Given the description of an element on the screen output the (x, y) to click on. 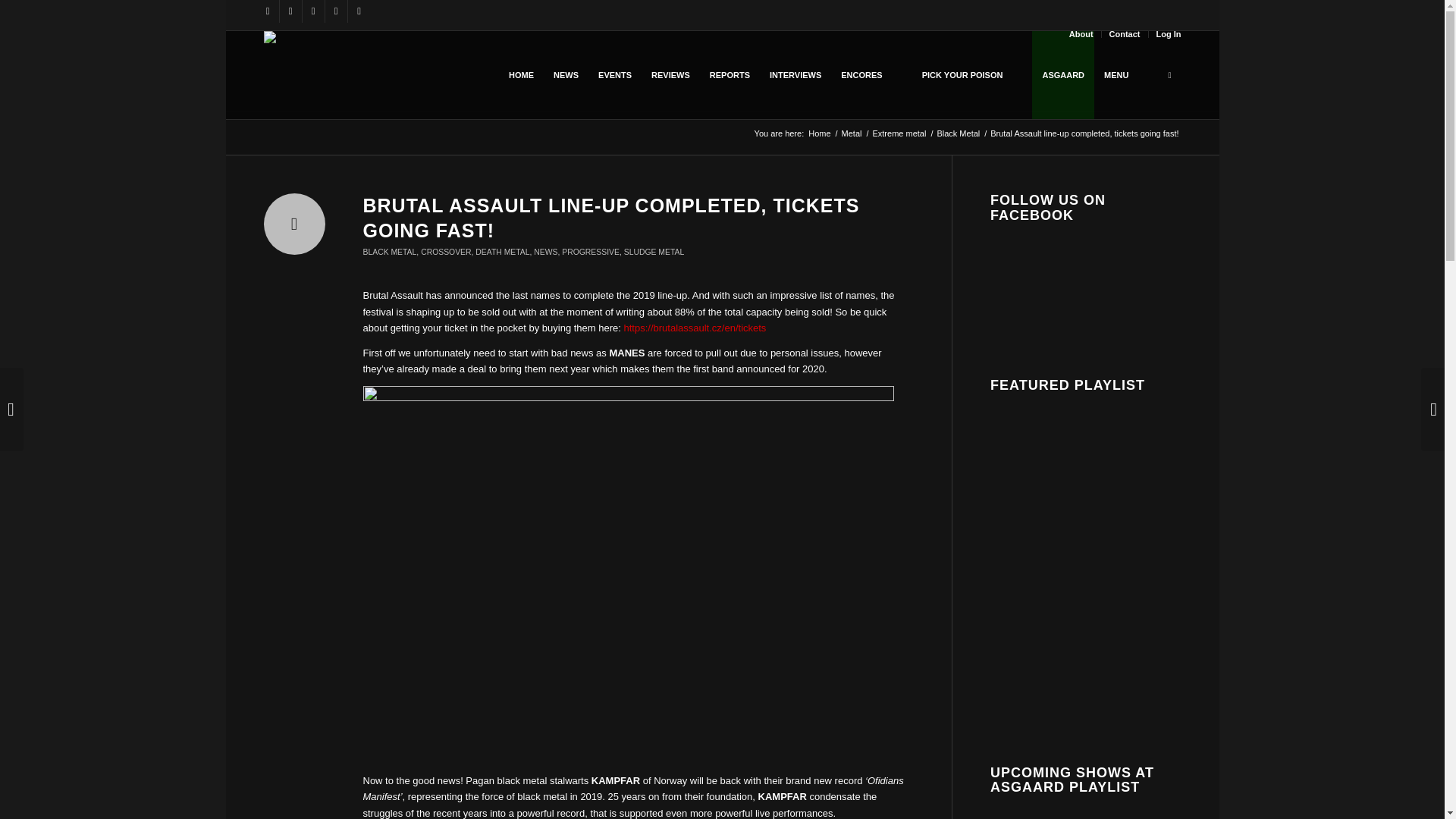
X (290, 11)
Facebook (267, 11)
Youtube (312, 11)
Pinterest (358, 11)
Instagram (335, 11)
